Given the description of an element on the screen output the (x, y) to click on. 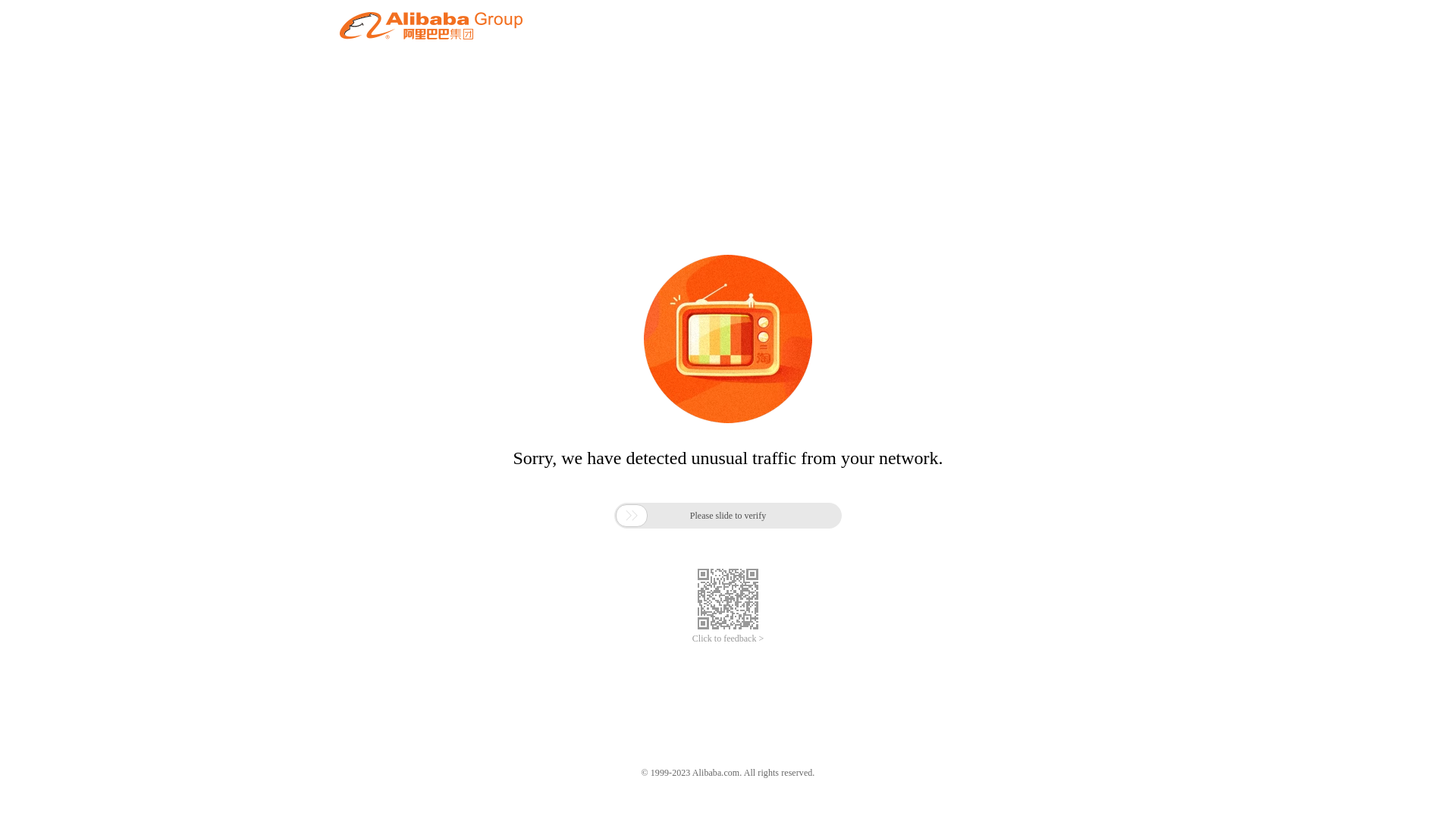
Click to feedback > Element type: text (727, 638)
